Given the description of an element on the screen output the (x, y) to click on. 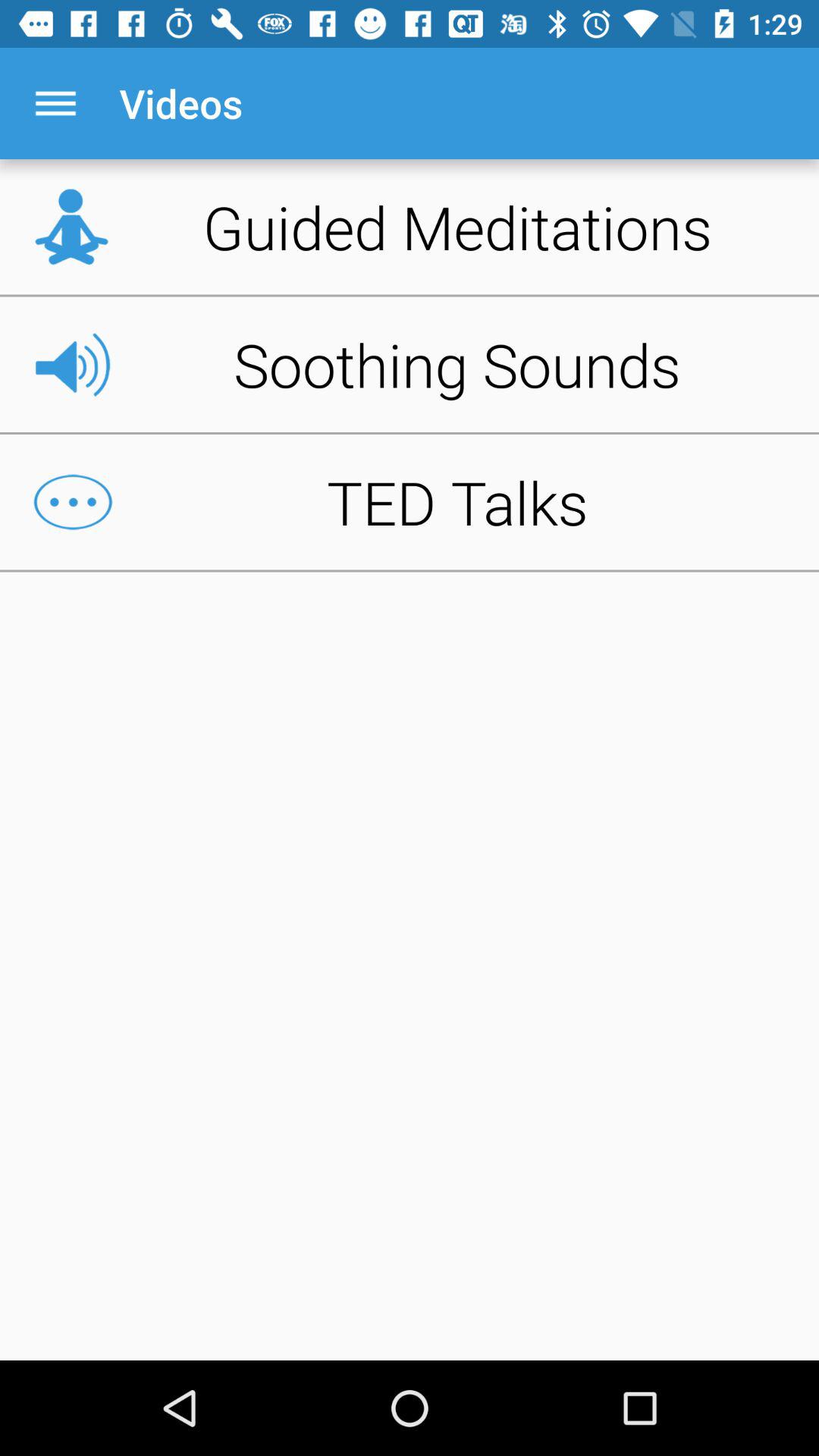
press ted talks item (409, 501)
